Given the description of an element on the screen output the (x, y) to click on. 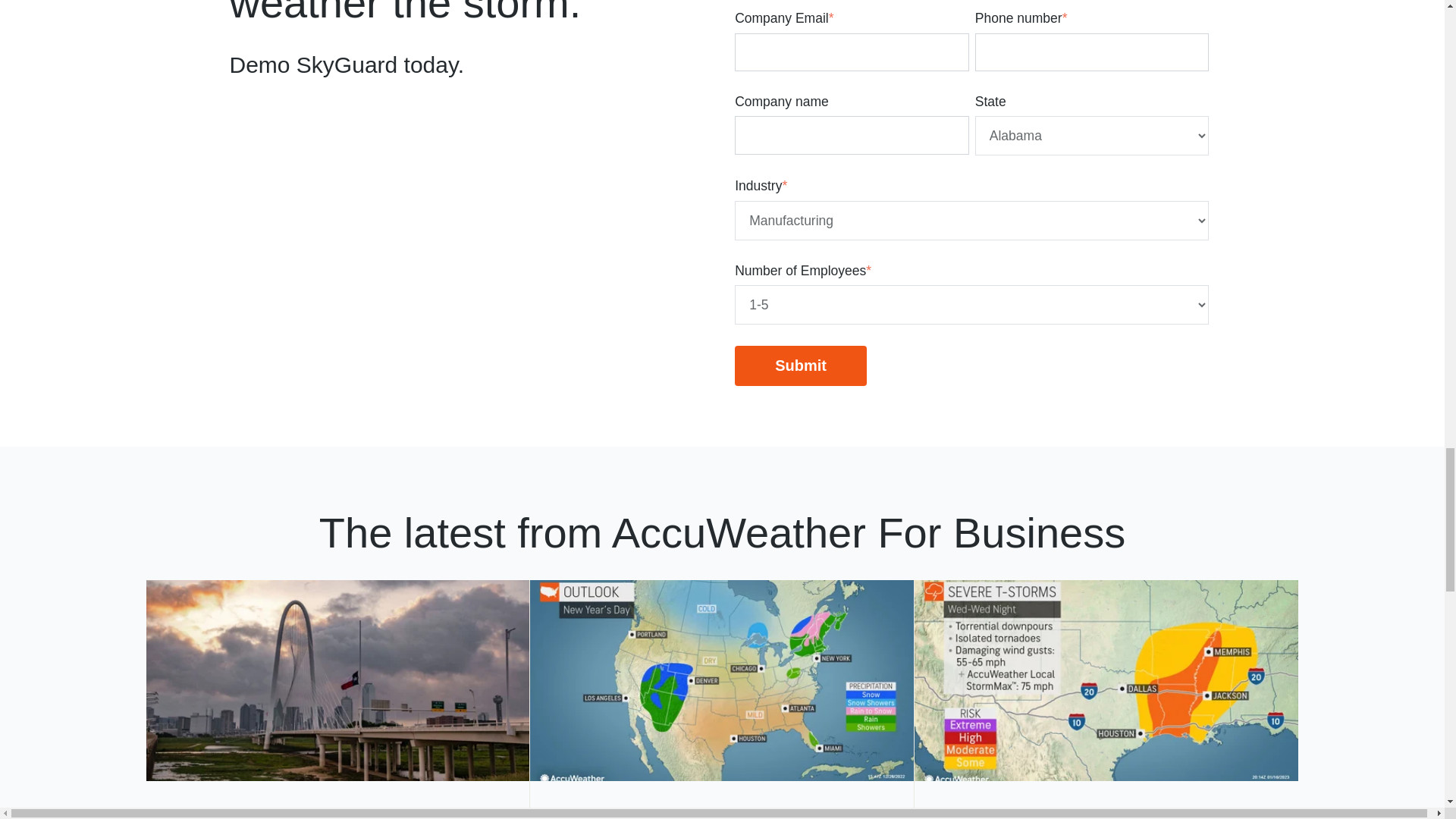
Submit (800, 365)
